Given the description of an element on the screen output the (x, y) to click on. 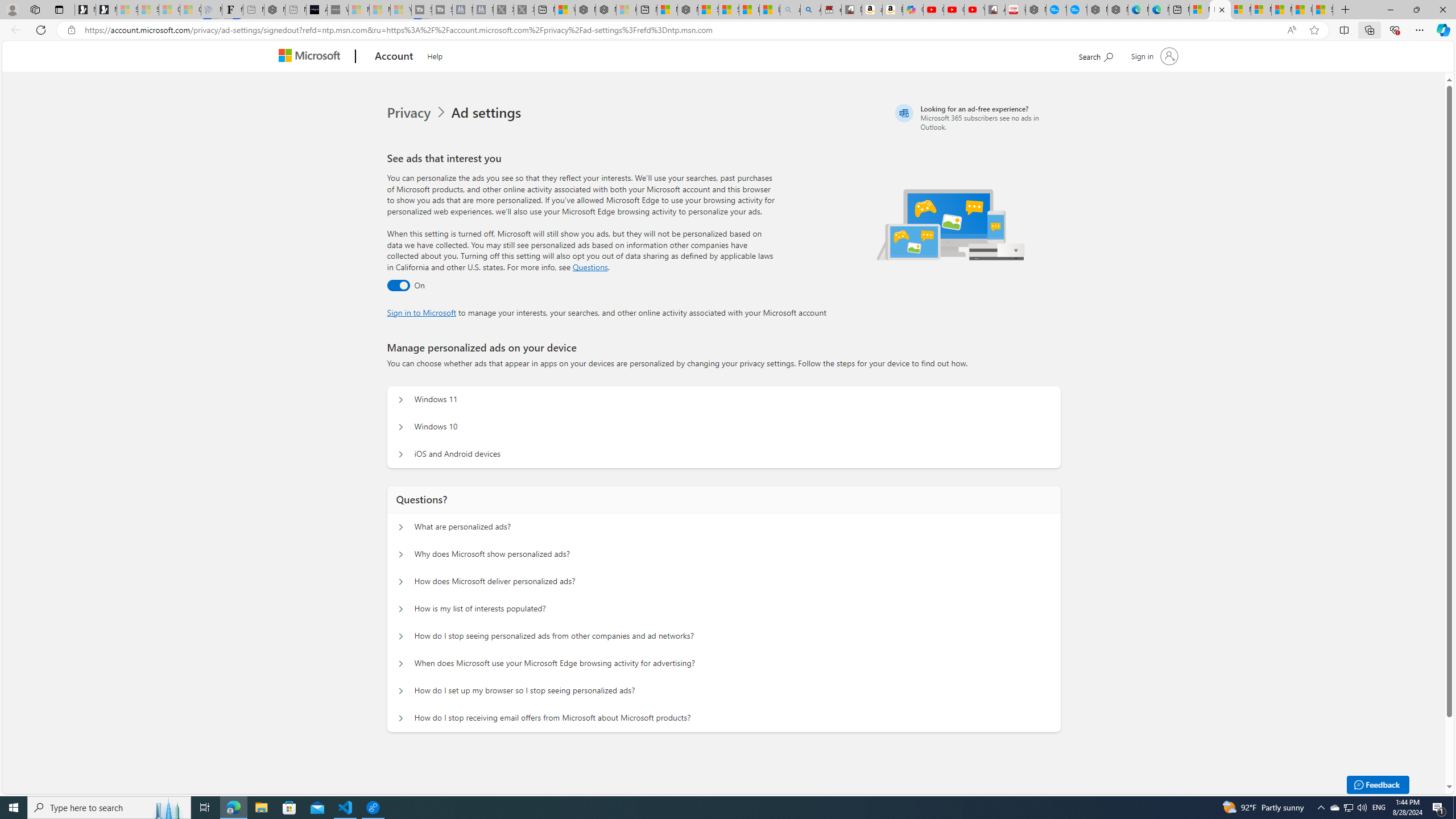
Gloom - YouTube (954, 9)
Ad settings toggle (398, 285)
Sign in to Microsoft (422, 311)
Questions? What are personalized ads? (401, 526)
Nordace - Nordace has arrived Hong Kong (1117, 9)
Manage personalized ads on your device Windows 10 (401, 427)
